Given the description of an element on the screen output the (x, y) to click on. 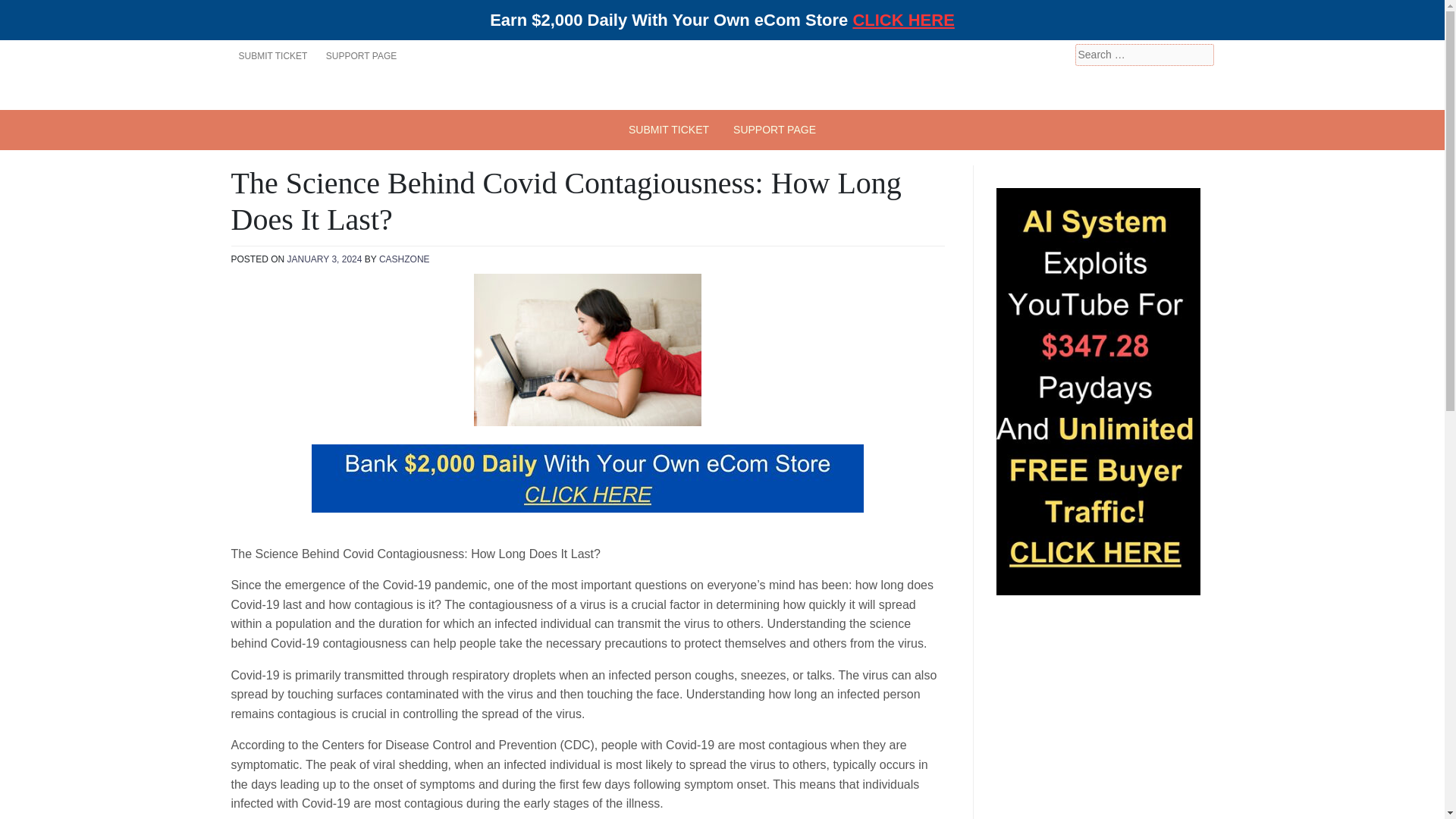
Search (30, 12)
JANUARY 3, 2024 (324, 258)
CASHZONE (403, 258)
SUBMIT TICKET (272, 55)
Online Profits (326, 109)
Search (32, 12)
CLICK HERE (902, 19)
SUBMIT TICKET (667, 129)
SUPPORT PAGE (774, 129)
